Given the description of an element on the screen output the (x, y) to click on. 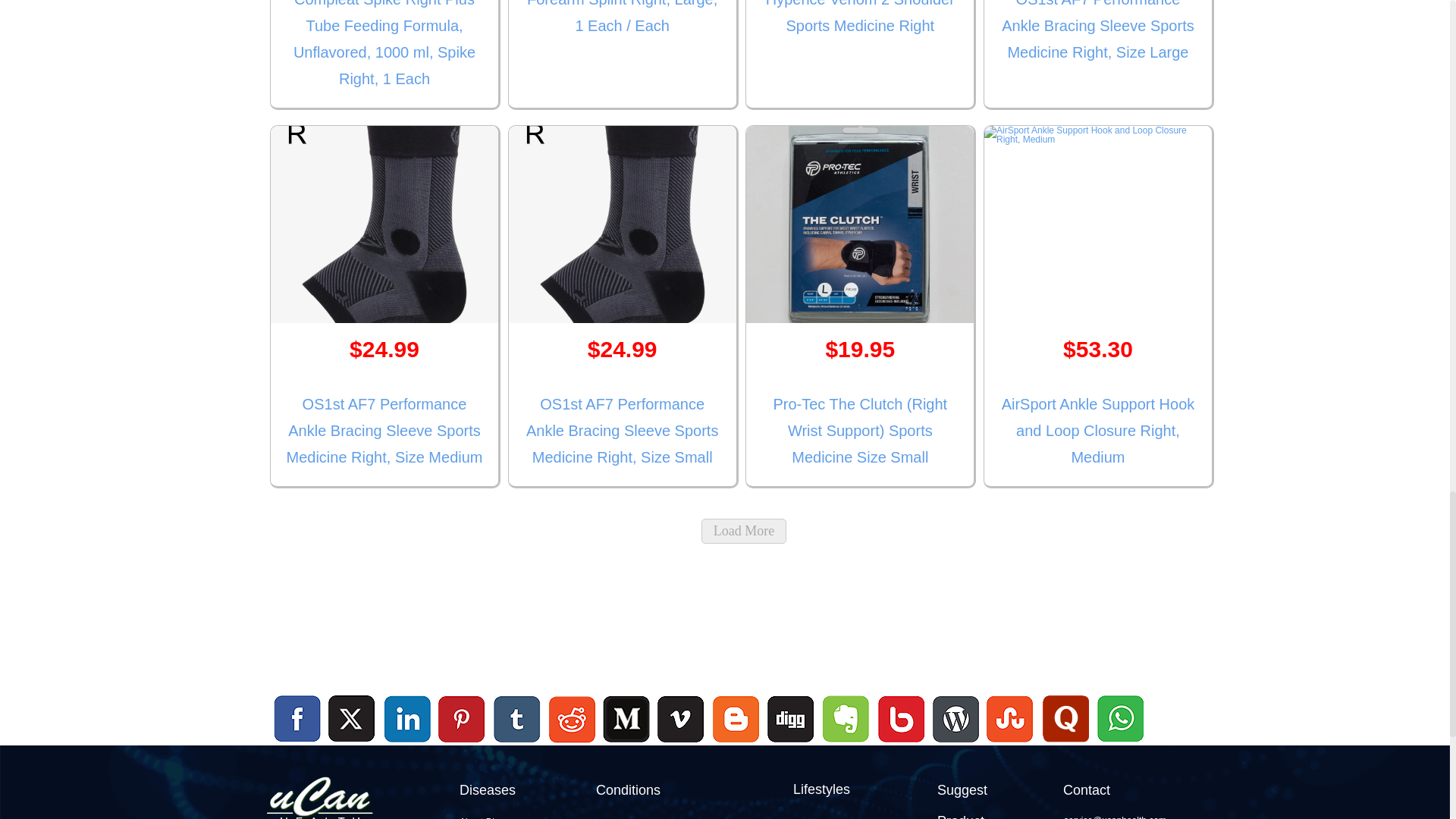
Facebook (297, 719)
WhatsApp (1118, 744)
Blogger (735, 744)
Medium (625, 744)
Vimeo (682, 719)
Bebo (900, 744)
Worldpress (955, 744)
Evernote (846, 719)
StumbleUpon (1009, 744)
Digg (790, 744)
